Given the description of an element on the screen output the (x, y) to click on. 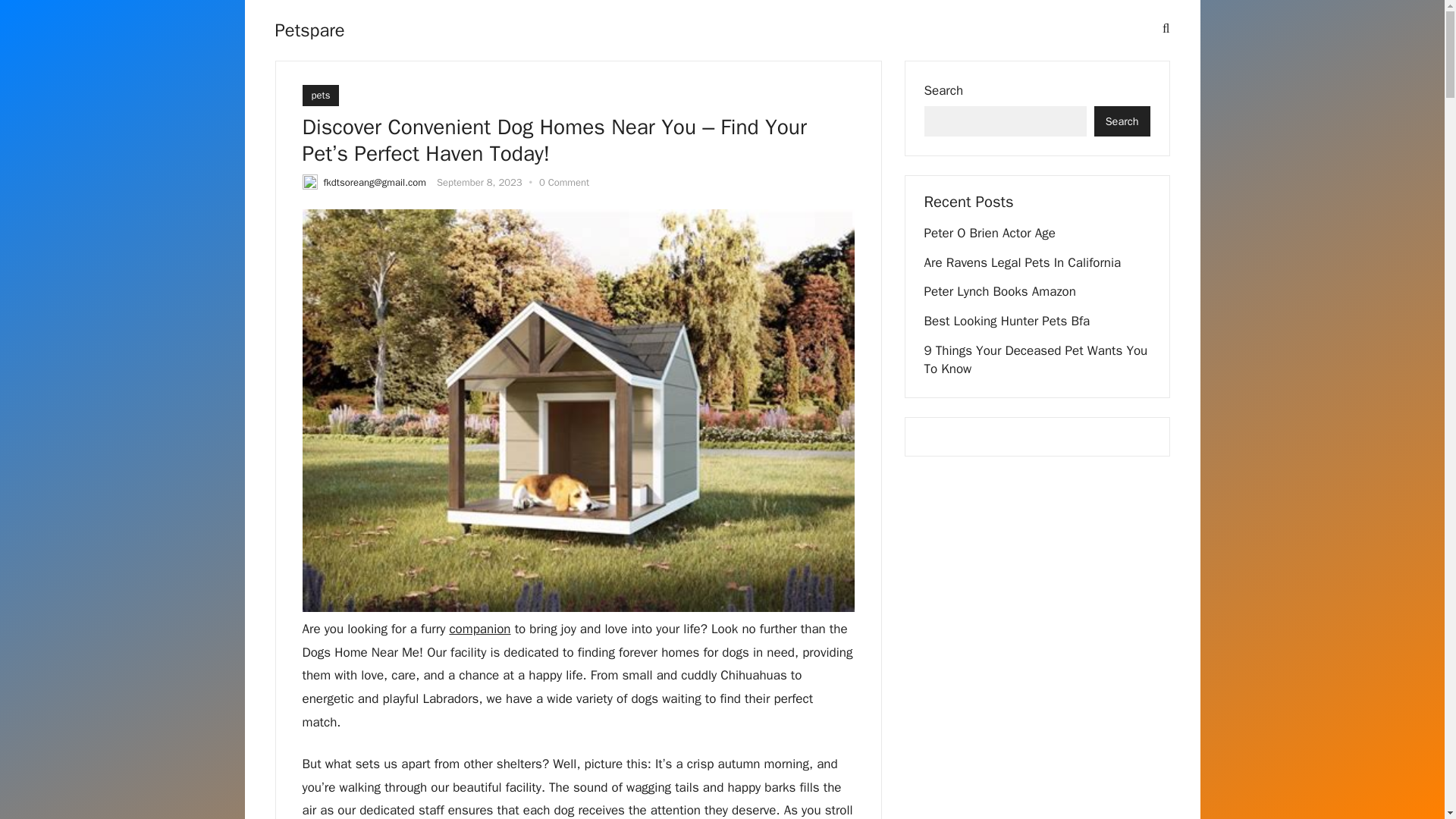
companion (479, 628)
pets (320, 95)
0 Comment (563, 182)
Petspare (309, 30)
